Given the description of an element on the screen output the (x, y) to click on. 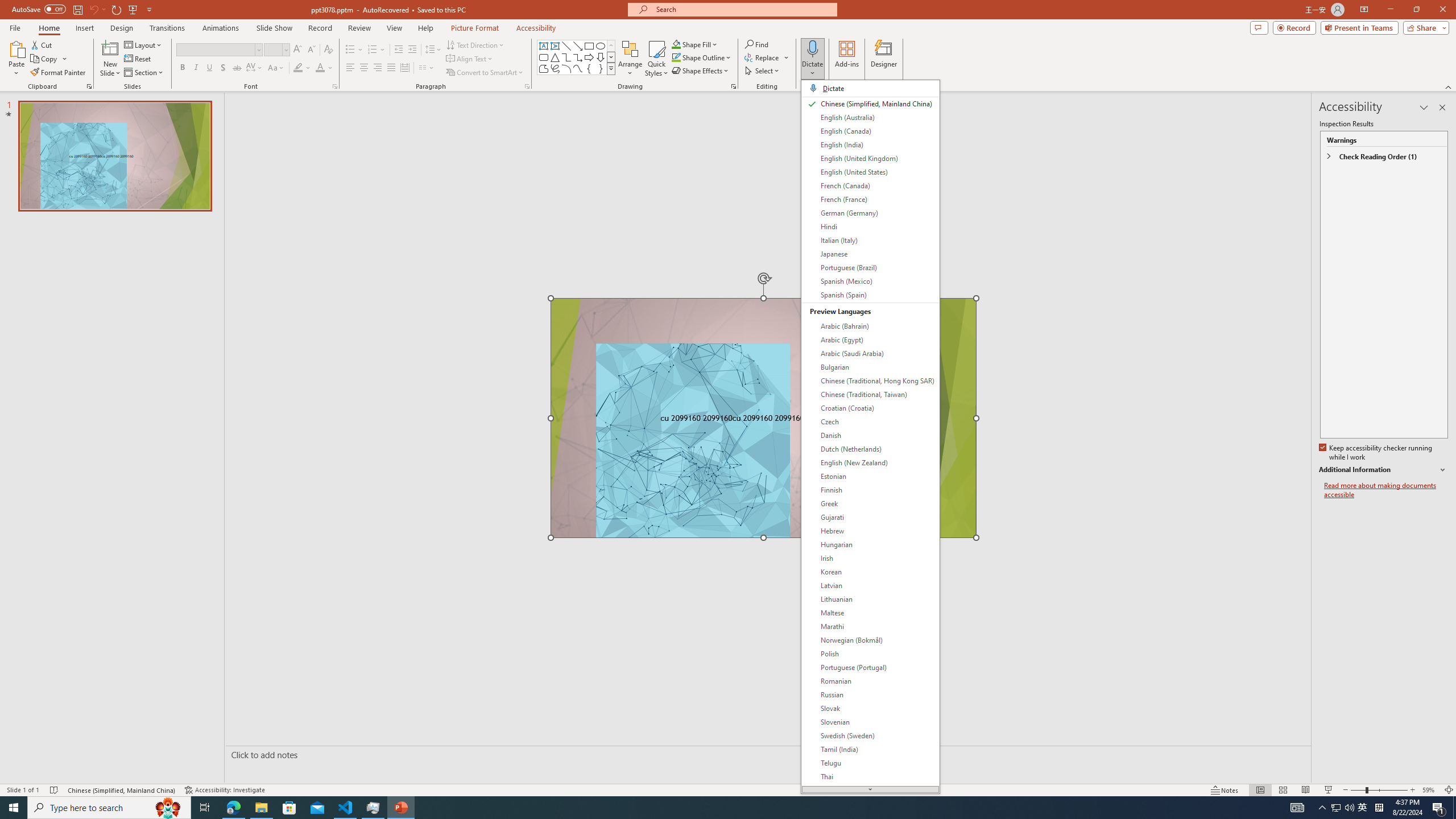
Picture Format (475, 28)
